Given the description of an element on the screen output the (x, y) to click on. 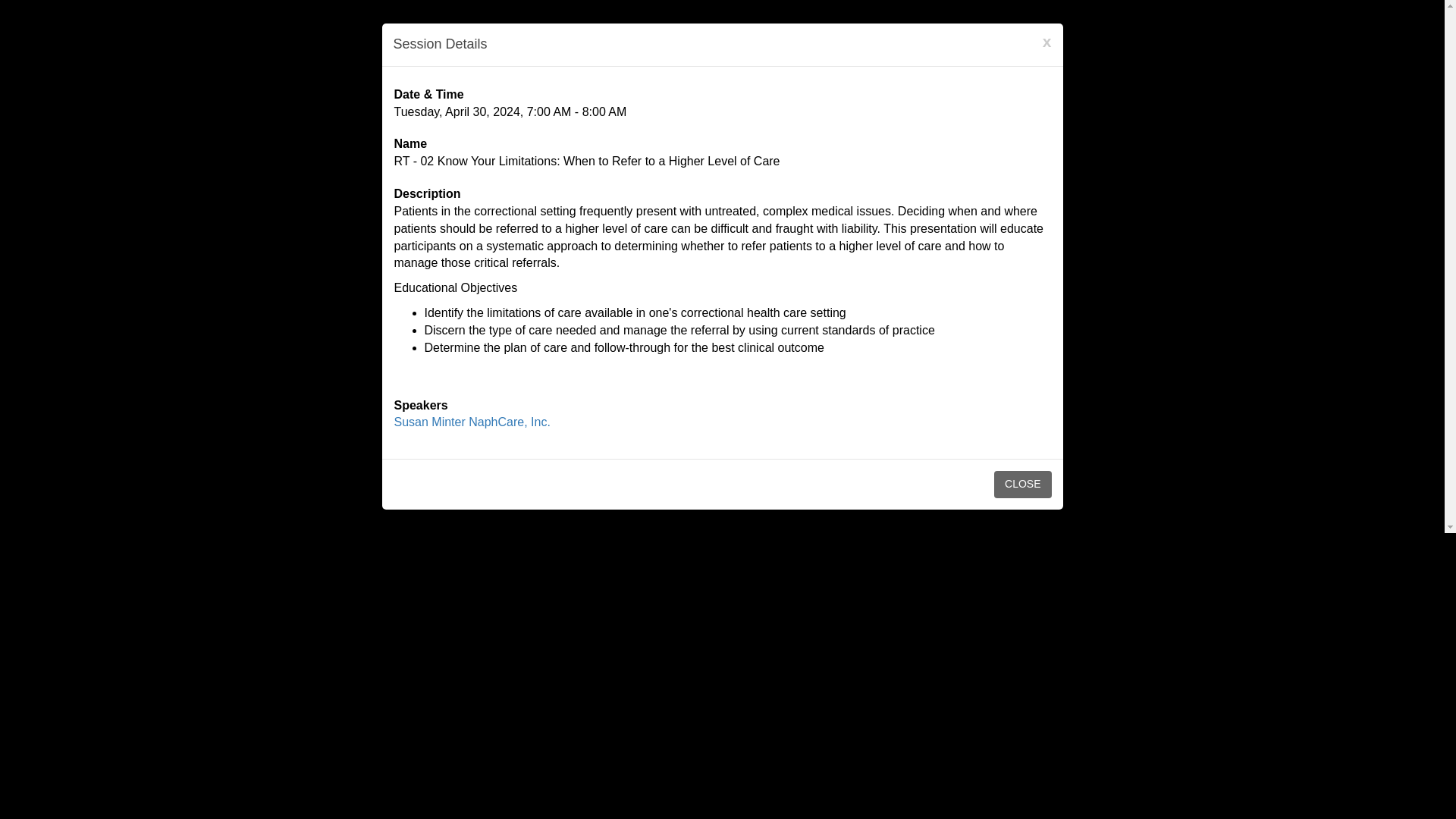
Susan Minter NaphCare, Inc. (472, 421)
Speaker Details (472, 421)
CLOSE (1022, 483)
